Given the description of an element on the screen output the (x, y) to click on. 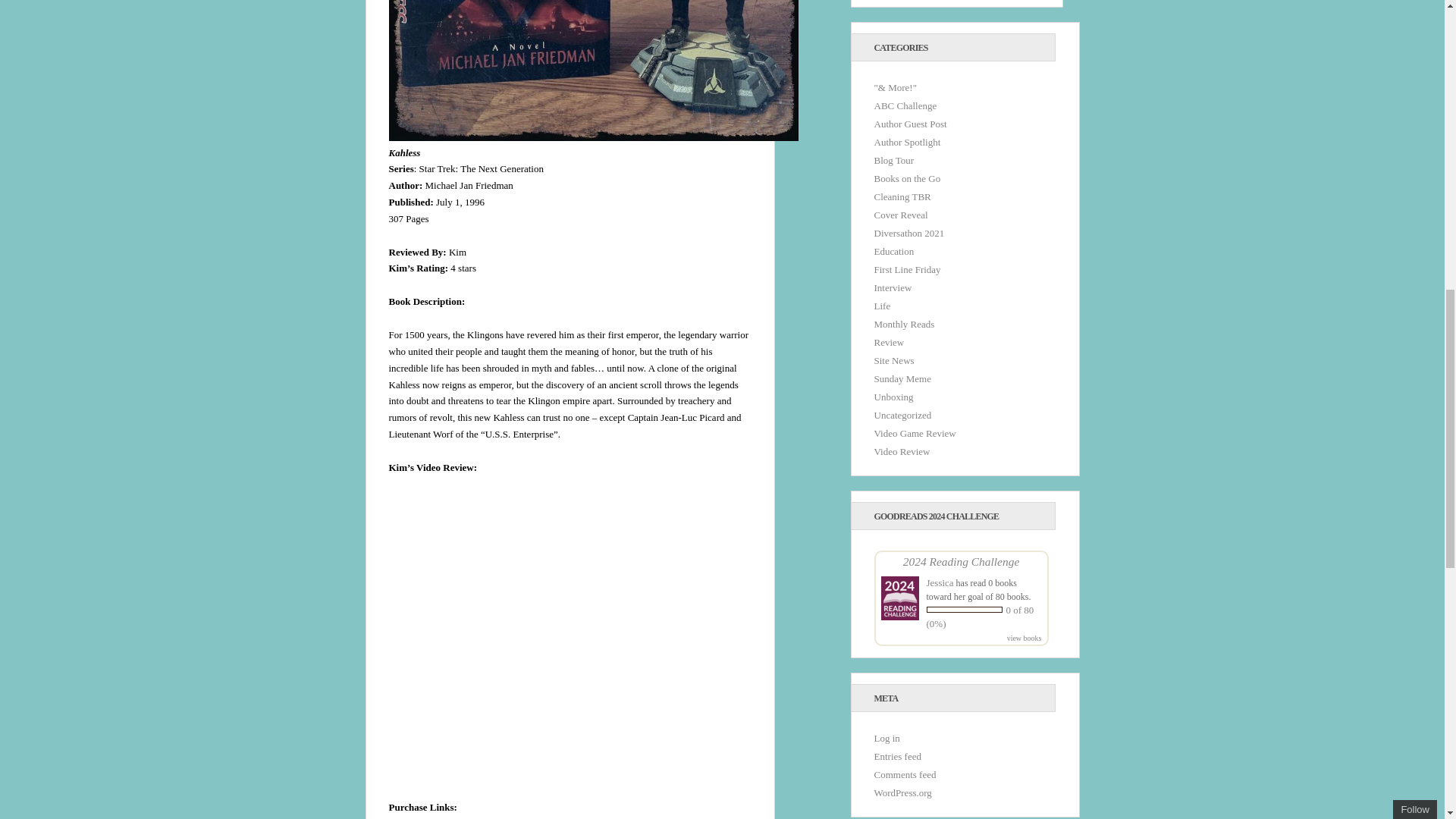
Book Review: Kahless by Michael Jan Friedman (577, 635)
Books on the Go (906, 178)
Sign up! (1361, 105)
Amazon US (412, 818)
Author Guest Post (909, 123)
ABC Challenge (904, 105)
Blog Tour (893, 160)
Author Spotlight (906, 142)
